Given the description of an element on the screen output the (x, y) to click on. 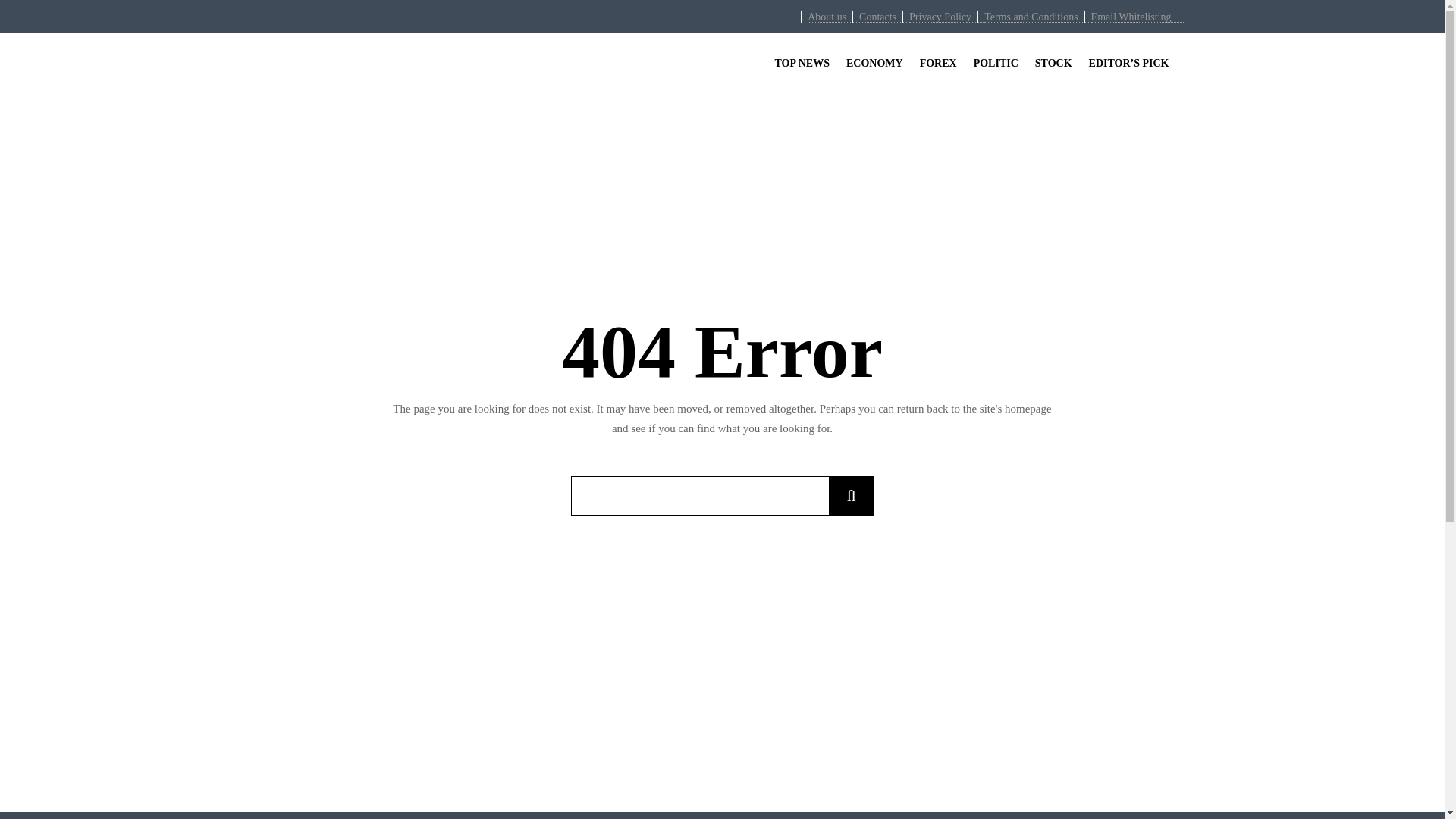
FOREX (938, 62)
About us (826, 16)
STOCK (1053, 62)
Terms and Conditions (1030, 16)
Search for: (699, 495)
TOP NEWS (801, 62)
ECONOMY (874, 62)
Privacy Policy (939, 16)
POLITIC (995, 62)
Email Whitelisting (1131, 16)
Contacts (877, 16)
